Given the description of an element on the screen output the (x, y) to click on. 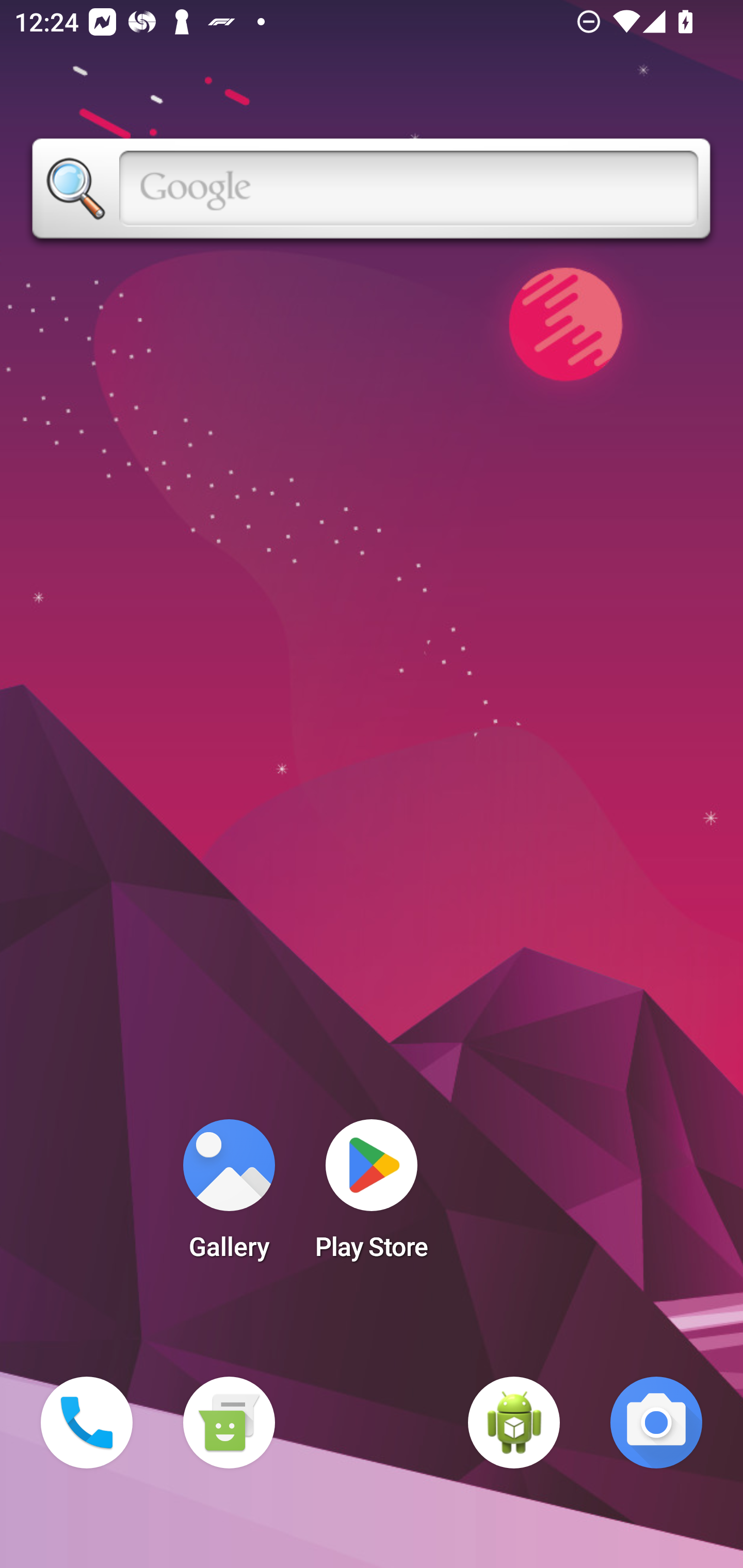
Gallery (228, 1195)
Play Store (371, 1195)
Phone (86, 1422)
Messaging (228, 1422)
WebView Browser Tester (513, 1422)
Camera (656, 1422)
